Given the description of an element on the screen output the (x, y) to click on. 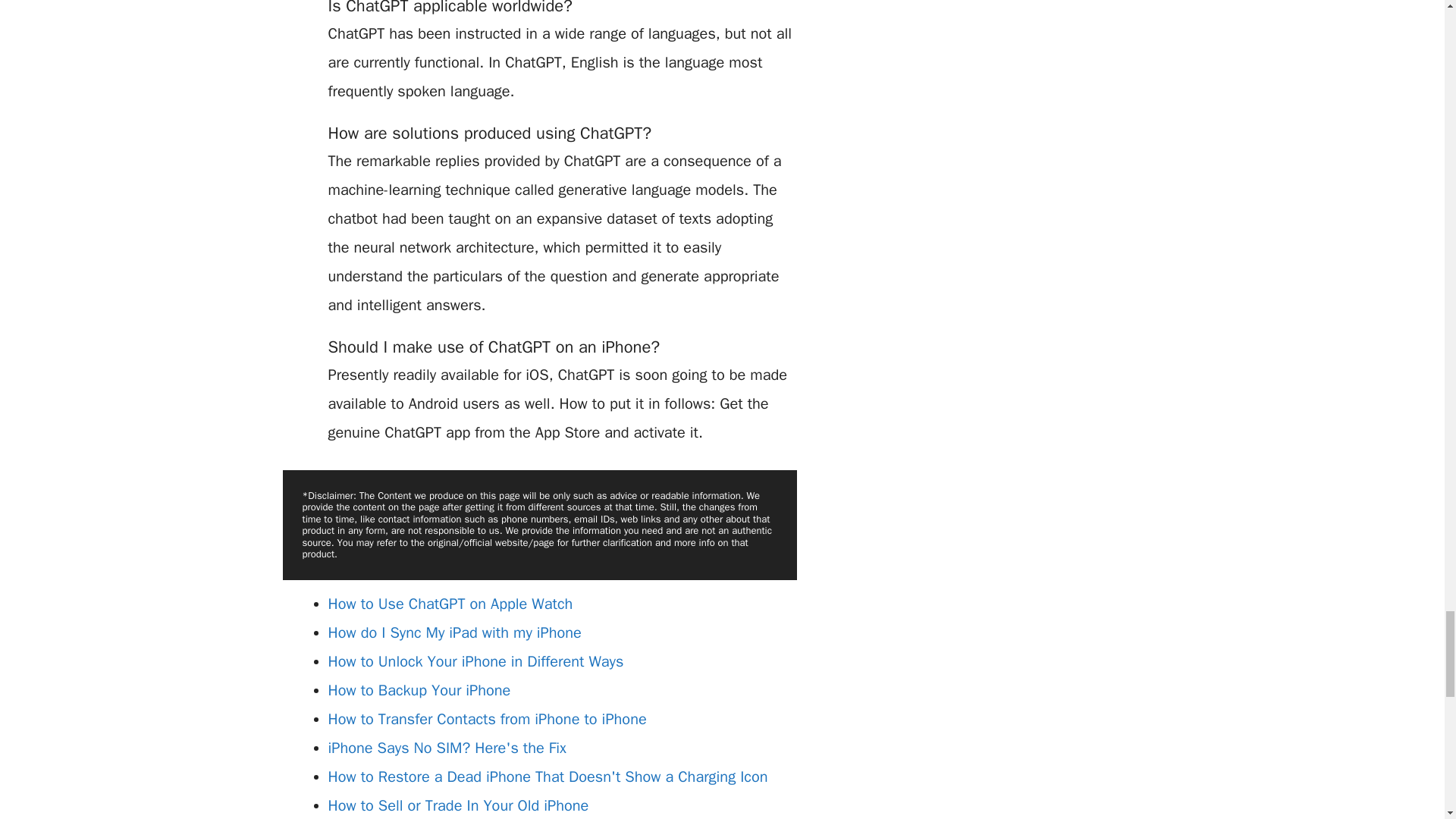
How do I Sync My iPad with my iPhone (453, 632)
How to Transfer Contacts from iPhone to iPhone (486, 719)
How to Backup Your iPhone (419, 690)
How to Use ChatGPT on Apple Watch (449, 603)
iPhone Says No SIM? Here's the Fix (446, 747)
How to Sell or Trade In Your Old iPhone (457, 805)
How to Unlock Your iPhone in Different Ways (475, 660)
